Given the description of an element on the screen output the (x, y) to click on. 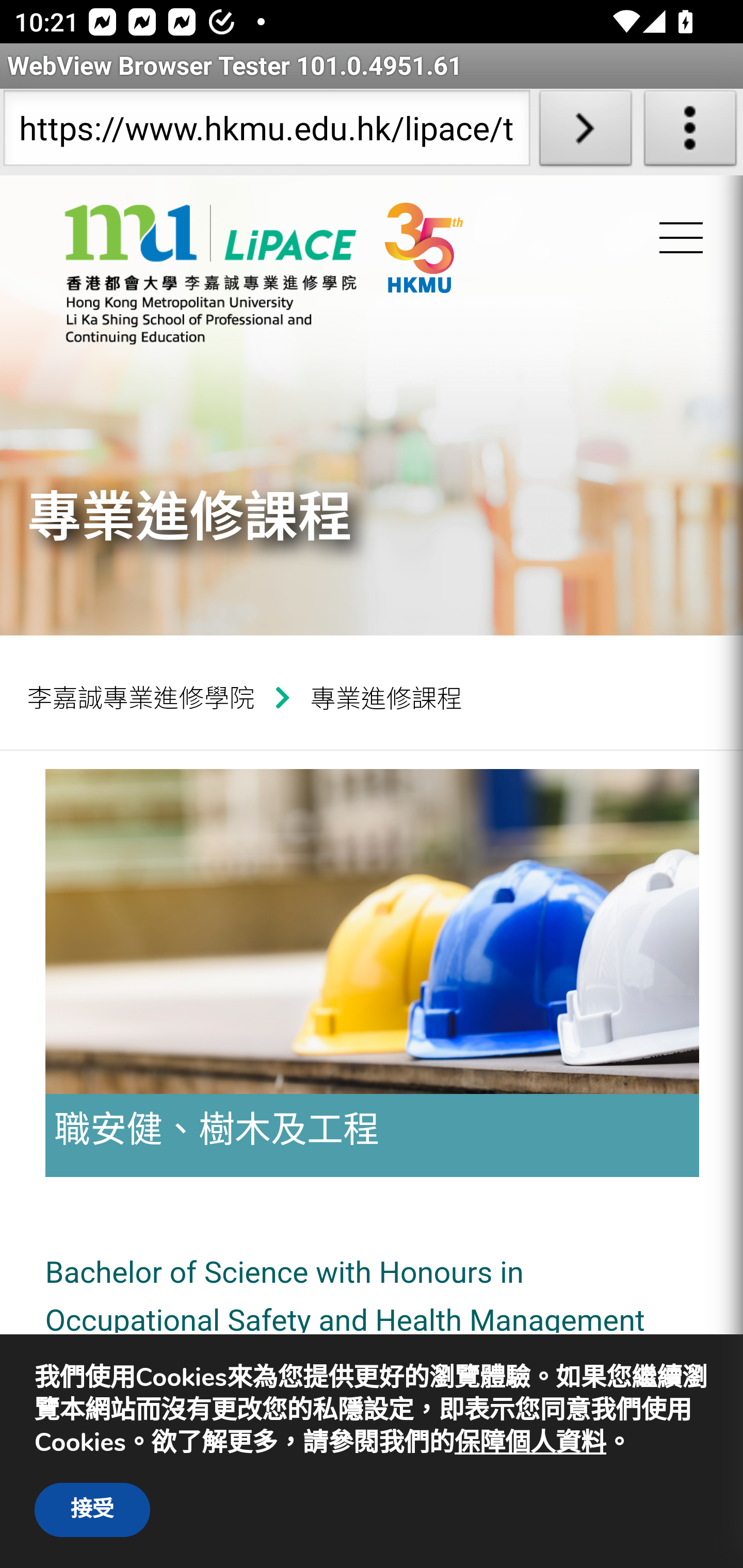
https://www.hkmu.edu.hk/lipace/tc/pt/ (266, 132)
Load URL (585, 132)
About WebView (690, 132)
tc (209, 274)
tc (461, 278)
李嘉誠專業進修學院 (148, 696)
保障個人資料 (530, 1443)
接受 (91, 1509)
